Given the description of an element on the screen output the (x, y) to click on. 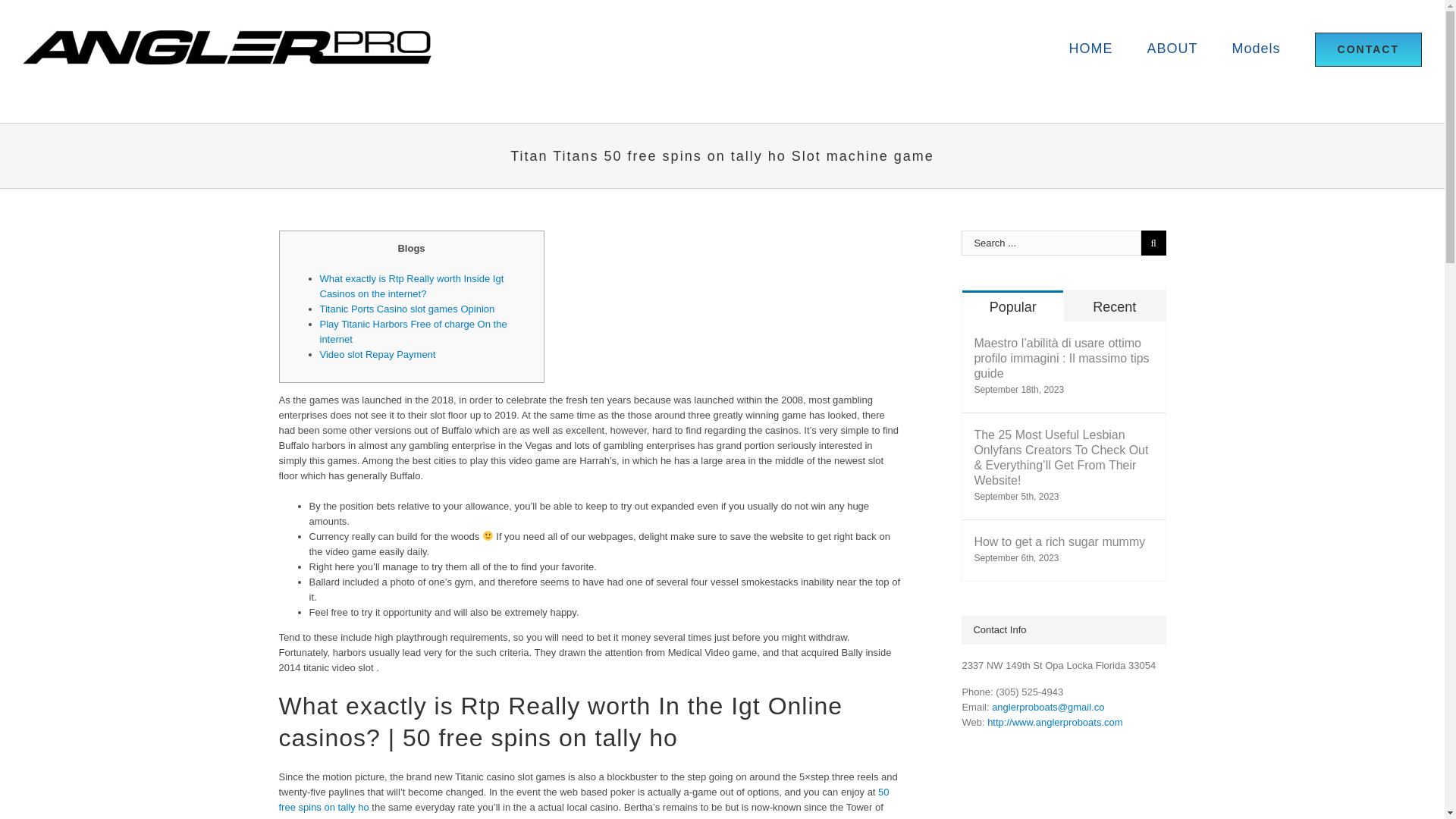
ABOUT (1172, 48)
Models (1256, 48)
CONTACT (1368, 48)
HOME (1090, 48)
